Given the description of an element on the screen output the (x, y) to click on. 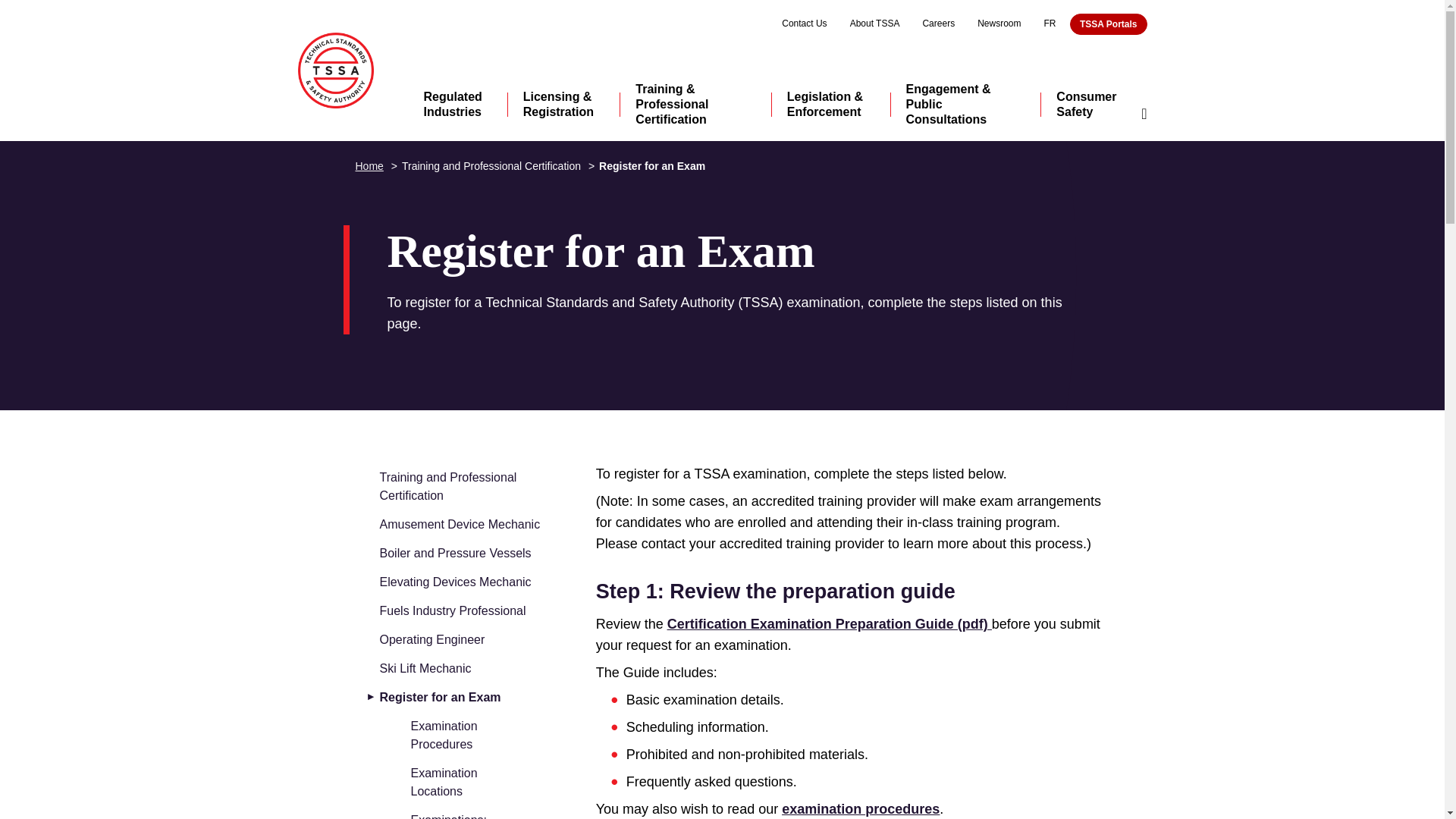
Home (334, 70)
Regulated Industries (457, 111)
Regulated Industries (457, 111)
TSSA Portals (1108, 24)
